Given the description of an element on the screen output the (x, y) to click on. 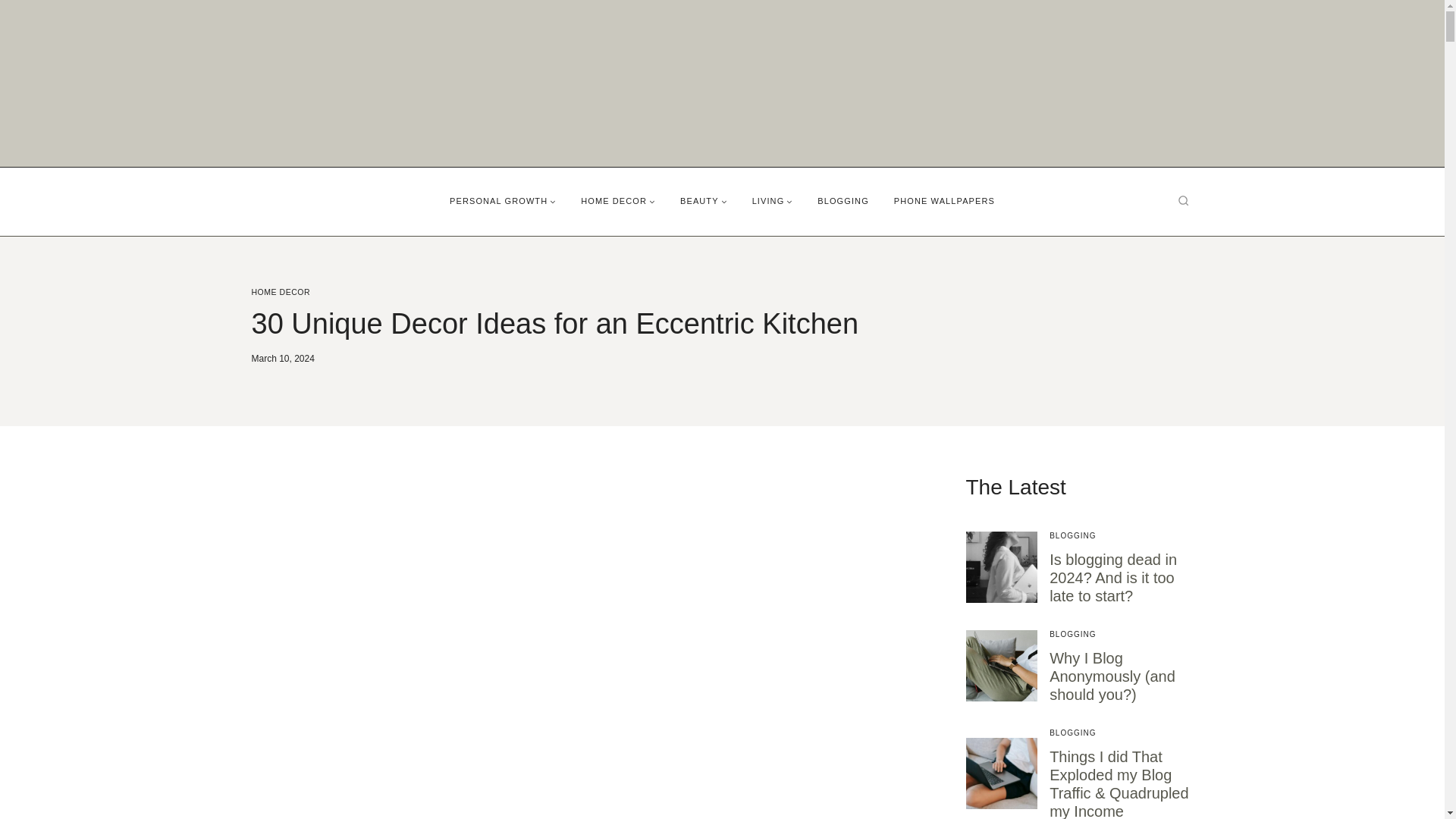
PHONE WALLPAPERS (943, 201)
BLOGGING (842, 201)
PERSONAL GROWTH (503, 201)
BEAUTY (703, 201)
LIVING (772, 201)
HOME DECOR (281, 291)
HOME DECOR (618, 201)
